Given the description of an element on the screen output the (x, y) to click on. 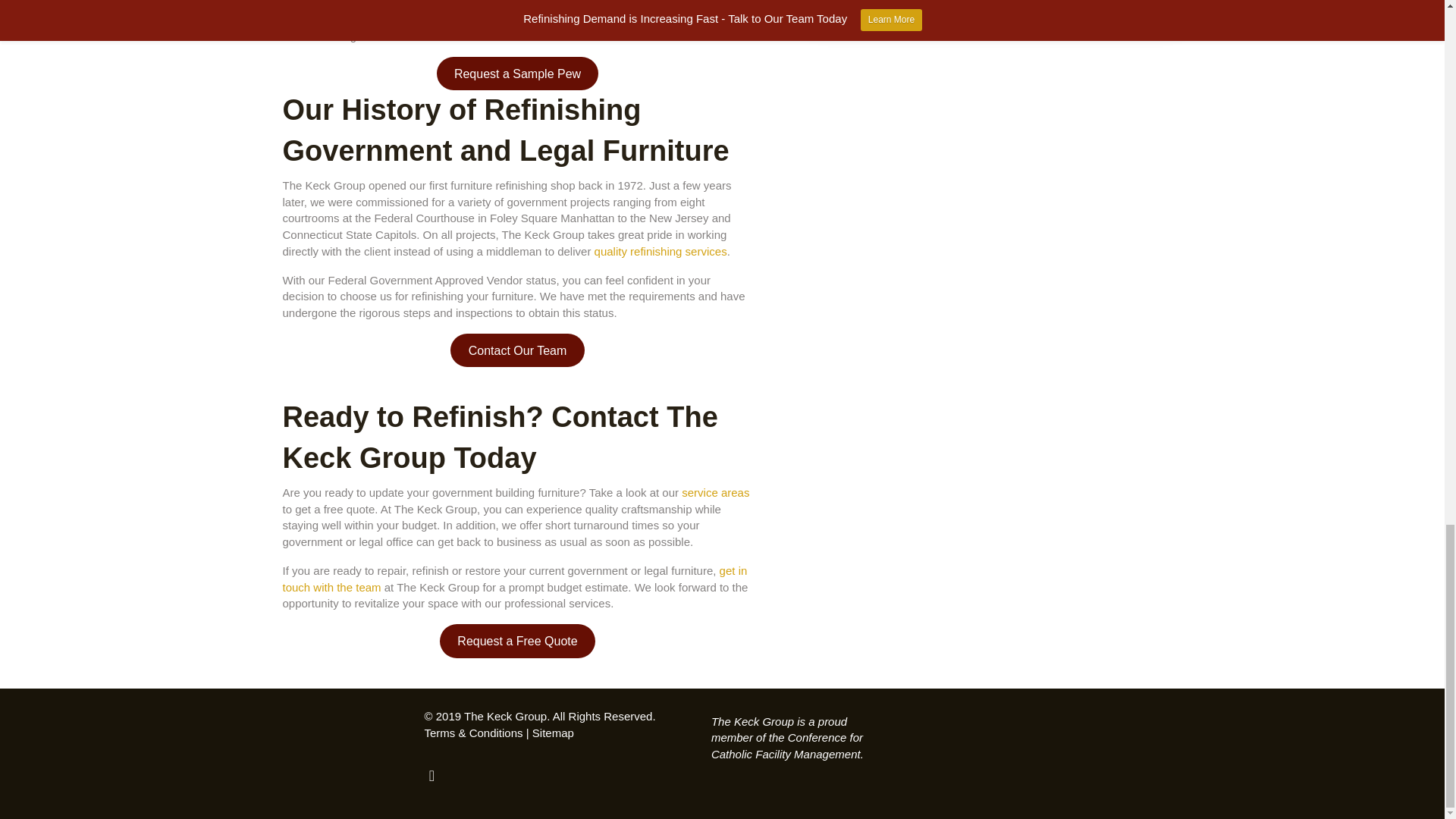
Request a Sample Pew (517, 73)
Contact Our Team (516, 350)
quality refinishing services (660, 250)
service areas (715, 492)
CCFM logo (970, 757)
get in touch with the team (514, 578)
Request a Free Quote (517, 641)
